Given the description of an element on the screen output the (x, y) to click on. 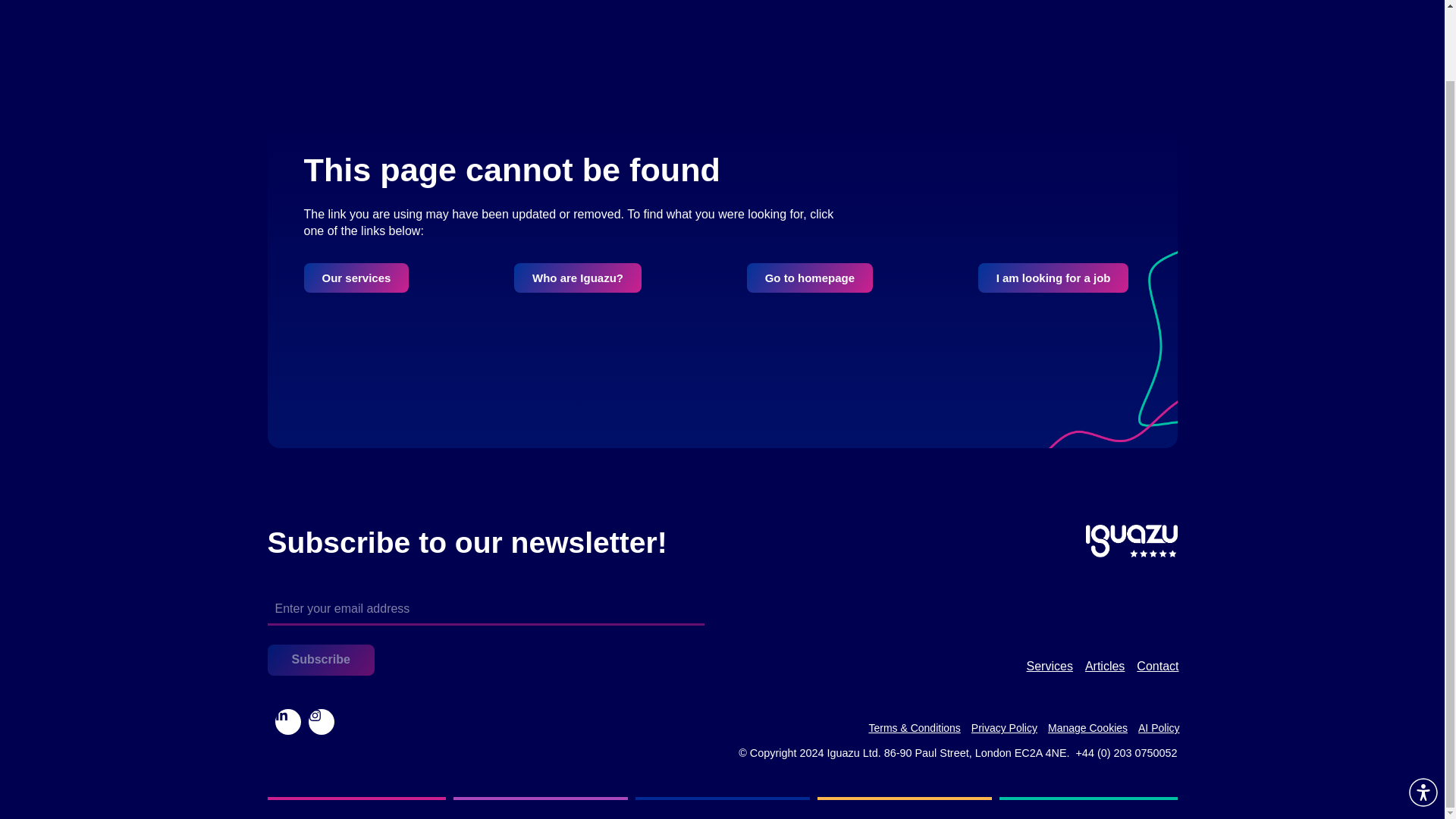
Manage Cookies (1087, 728)
I am looking for a job (1053, 277)
Articles (1104, 666)
Services (1049, 666)
Subscribe (320, 659)
Accessibility Menu (1422, 713)
Contact (1158, 666)
Who are Iguazu? (577, 277)
Our services (355, 277)
Go to homepage (809, 277)
Privacy Policy (1004, 728)
